Given the description of an element on the screen output the (x, y) to click on. 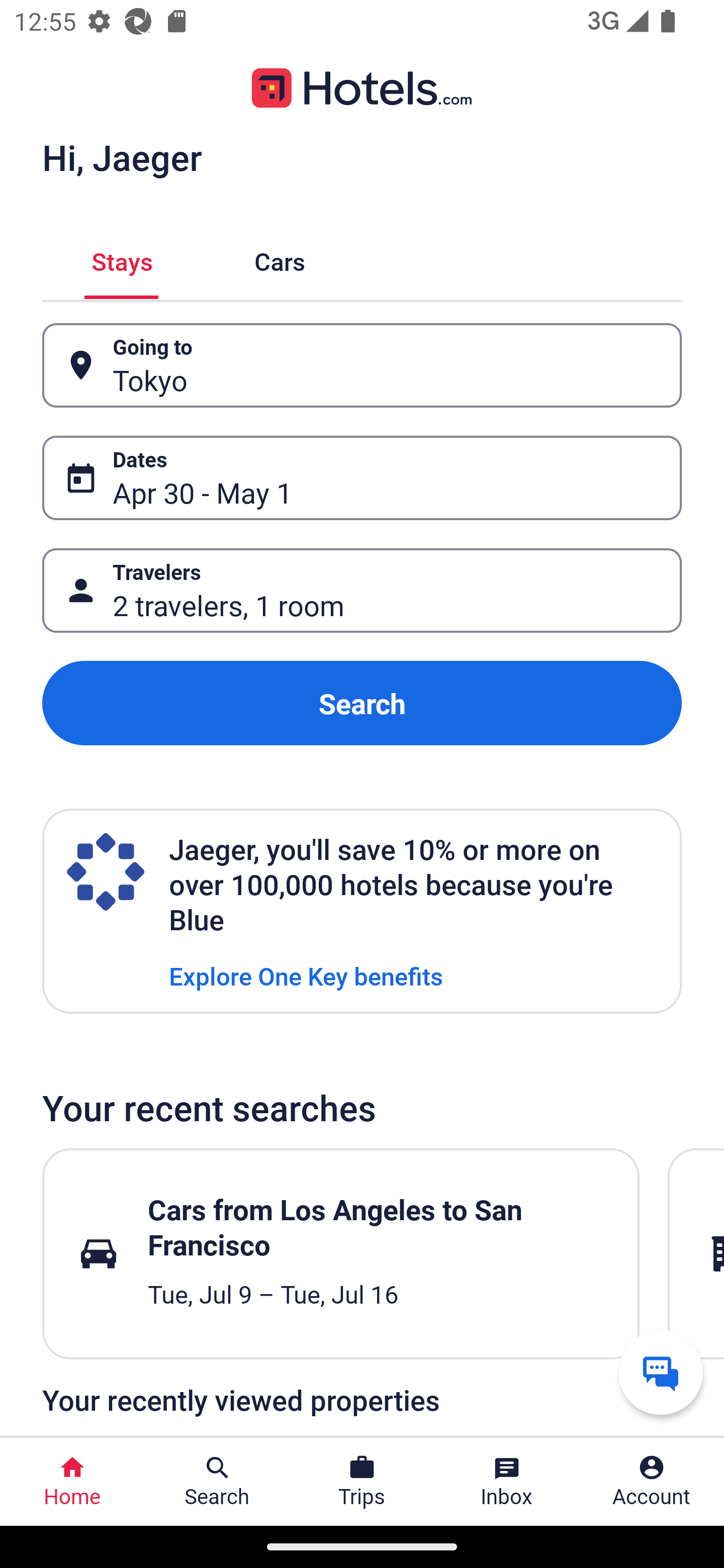
Hi, Jaeger (121, 156)
Cars (279, 259)
Going to Button Tokyo (361, 365)
Dates Button Apr 30 - May 1 (361, 477)
Travelers Button 2 travelers, 1 room (361, 590)
Search (361, 702)
Get help from a virtual agent (660, 1371)
Search Search Button (216, 1481)
Trips Trips Button (361, 1481)
Inbox Inbox Button (506, 1481)
Account Profile. Button (651, 1481)
